Given the description of an element on the screen output the (x, y) to click on. 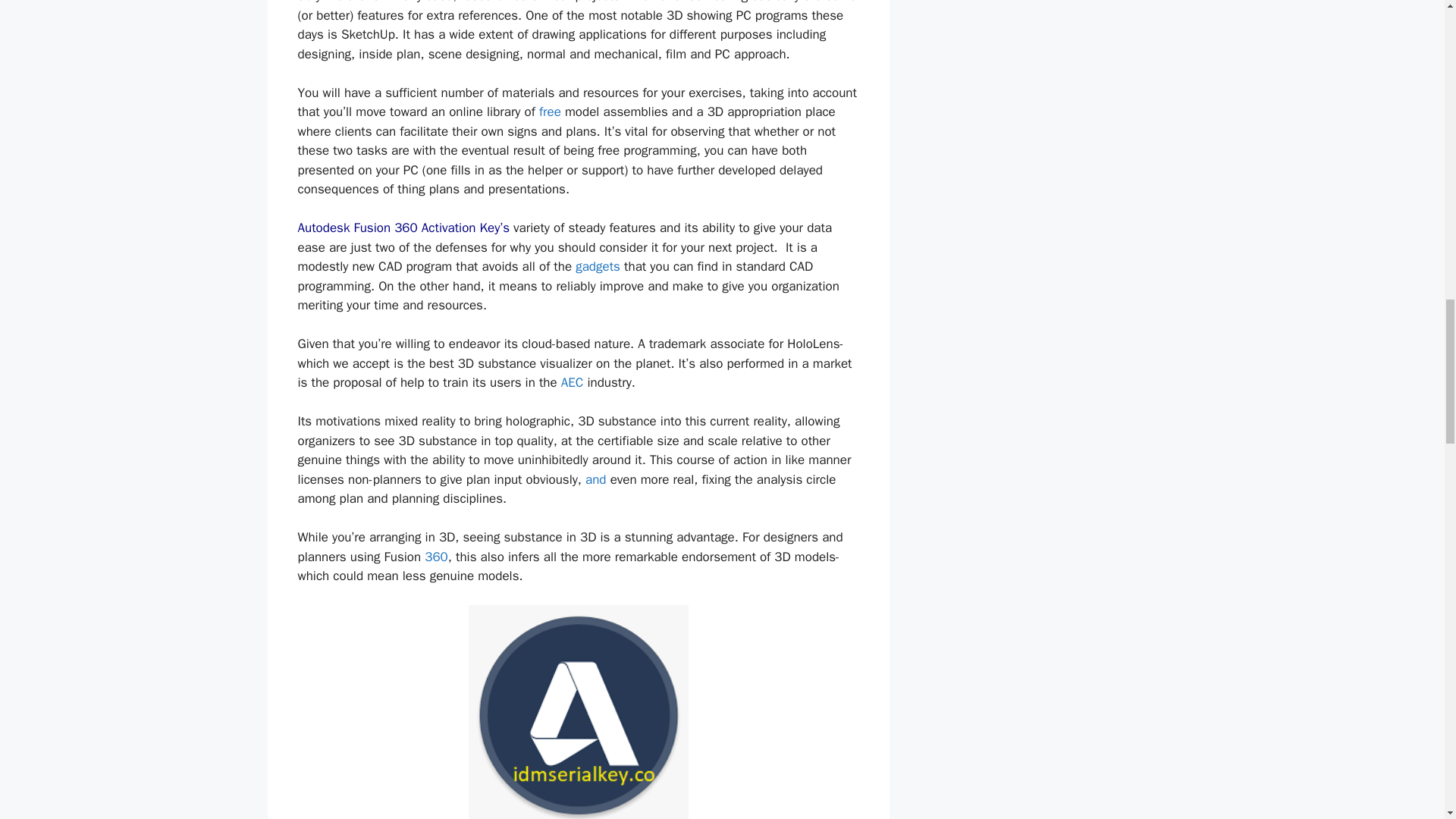
AEC (571, 382)
360 (436, 556)
gadgets (597, 266)
free (549, 111)
and (596, 479)
